Given the description of an element on the screen output the (x, y) to click on. 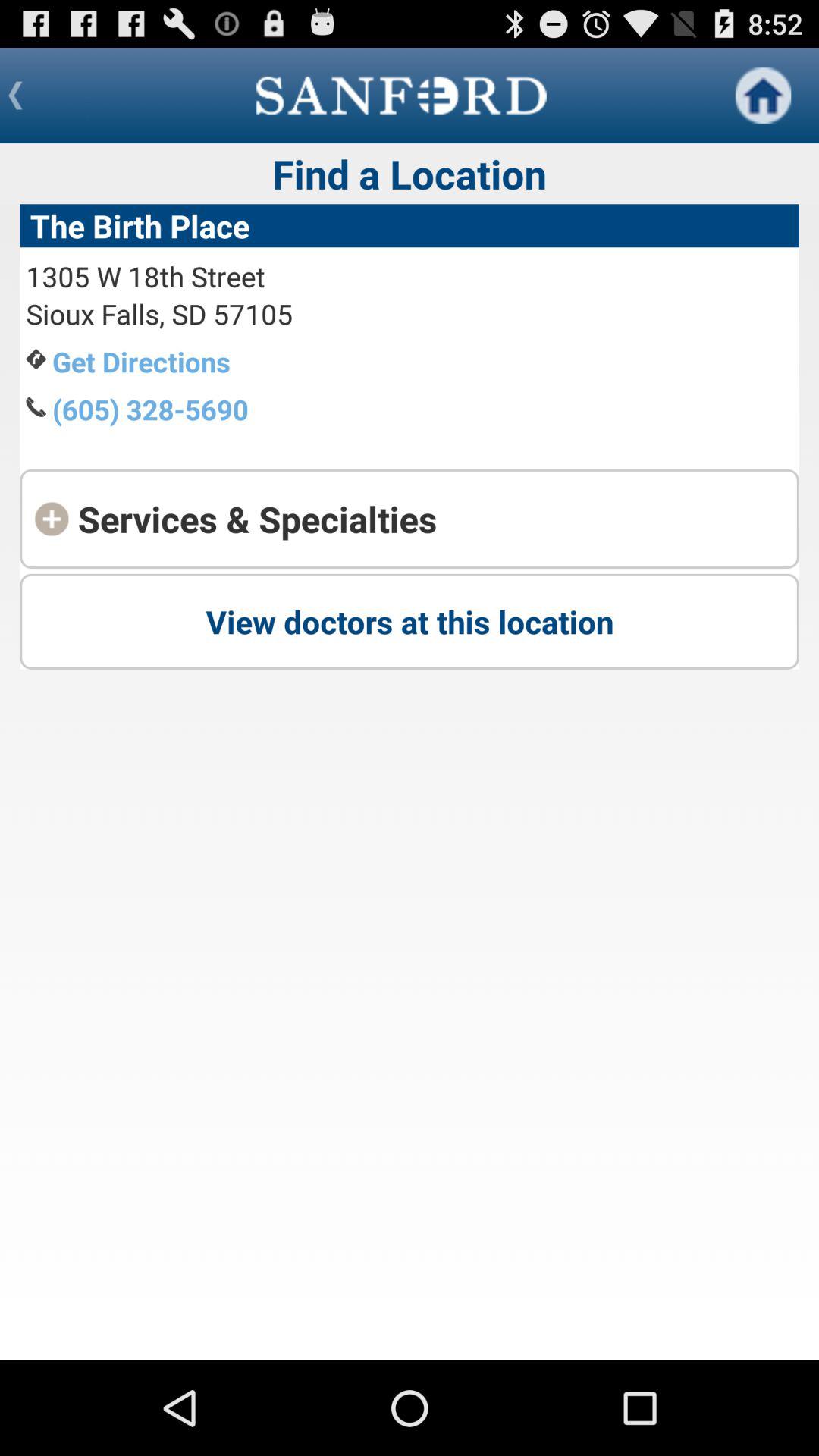
click the item below the get directions item (150, 409)
